Given the description of an element on the screen output the (x, y) to click on. 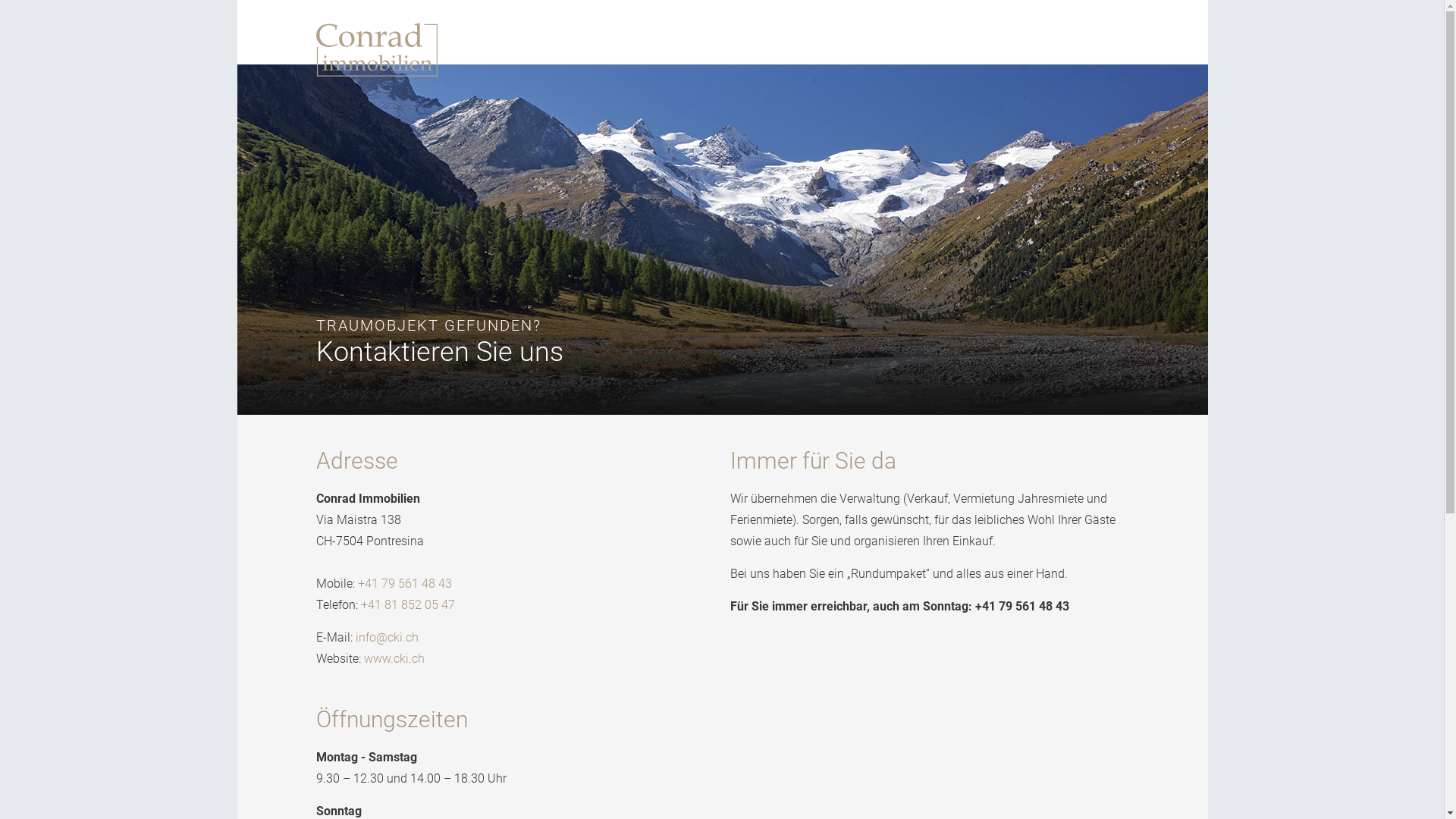
info@cki.ch Element type: text (386, 637)
+41 79 561 48 43 Element type: text (404, 583)
+41 81 852 05 47 Element type: text (407, 604)
www.cki.ch Element type: text (394, 658)
